Given the description of an element on the screen output the (x, y) to click on. 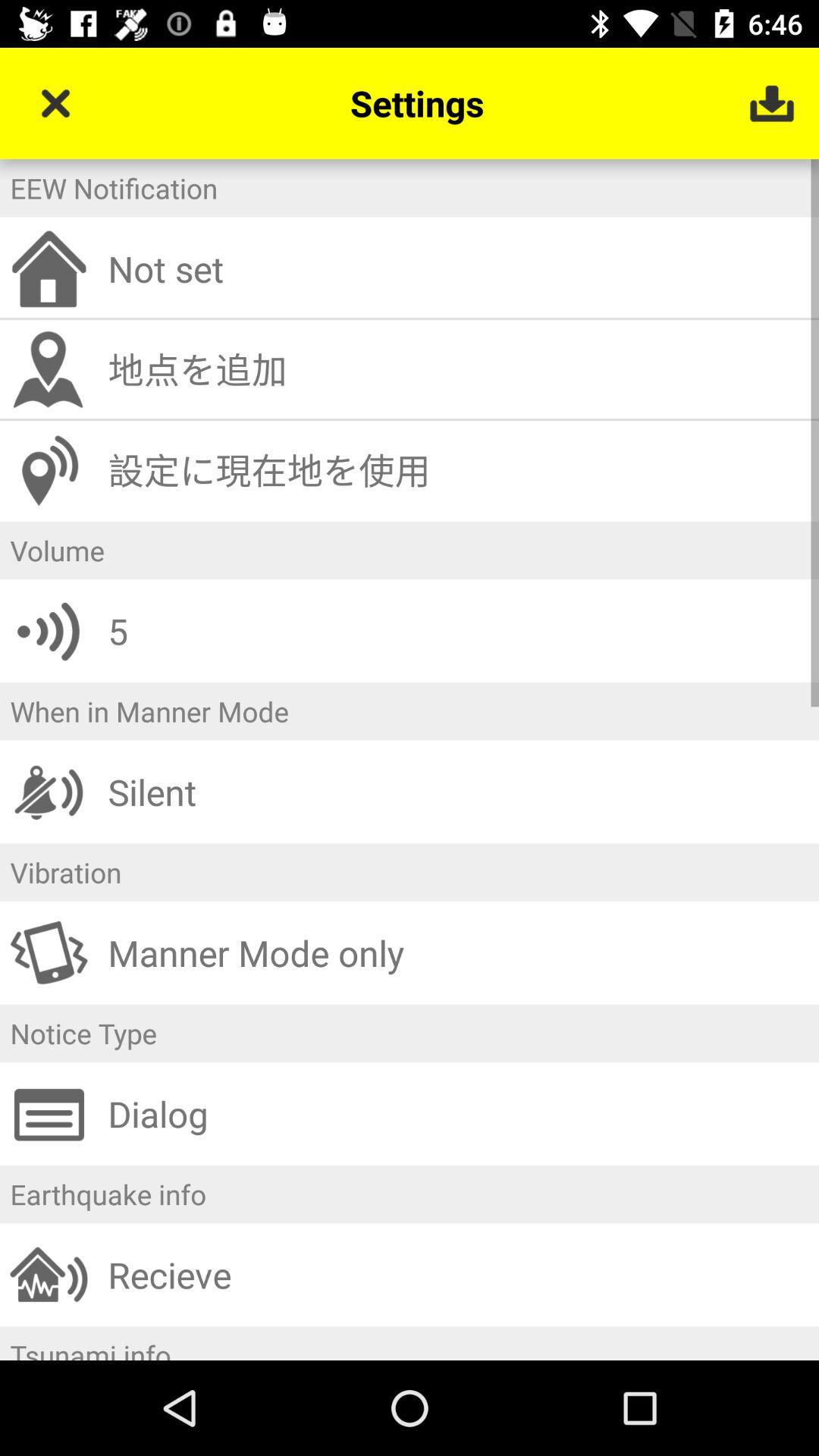
open 5 item (458, 630)
